Given the description of an element on the screen output the (x, y) to click on. 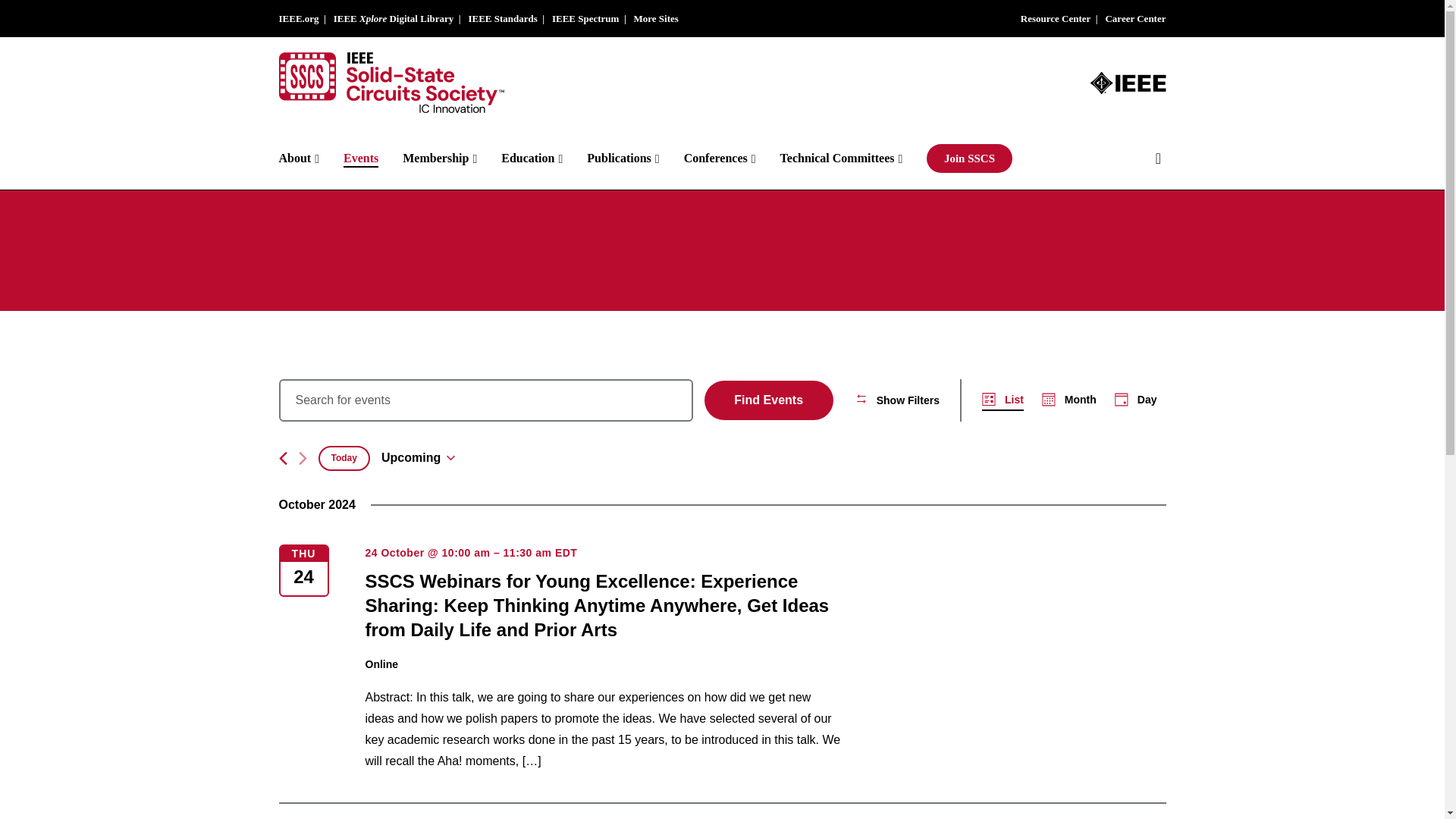
IEEE Spectrum (584, 18)
Events (373, 158)
IEEE.org (298, 18)
Membership (451, 158)
Click to select today's date (343, 457)
Career Center (1135, 18)
IEEE Standards (502, 18)
Resource Center (1055, 18)
Click to toggle datepicker (417, 457)
